Given the description of an element on the screen output the (x, y) to click on. 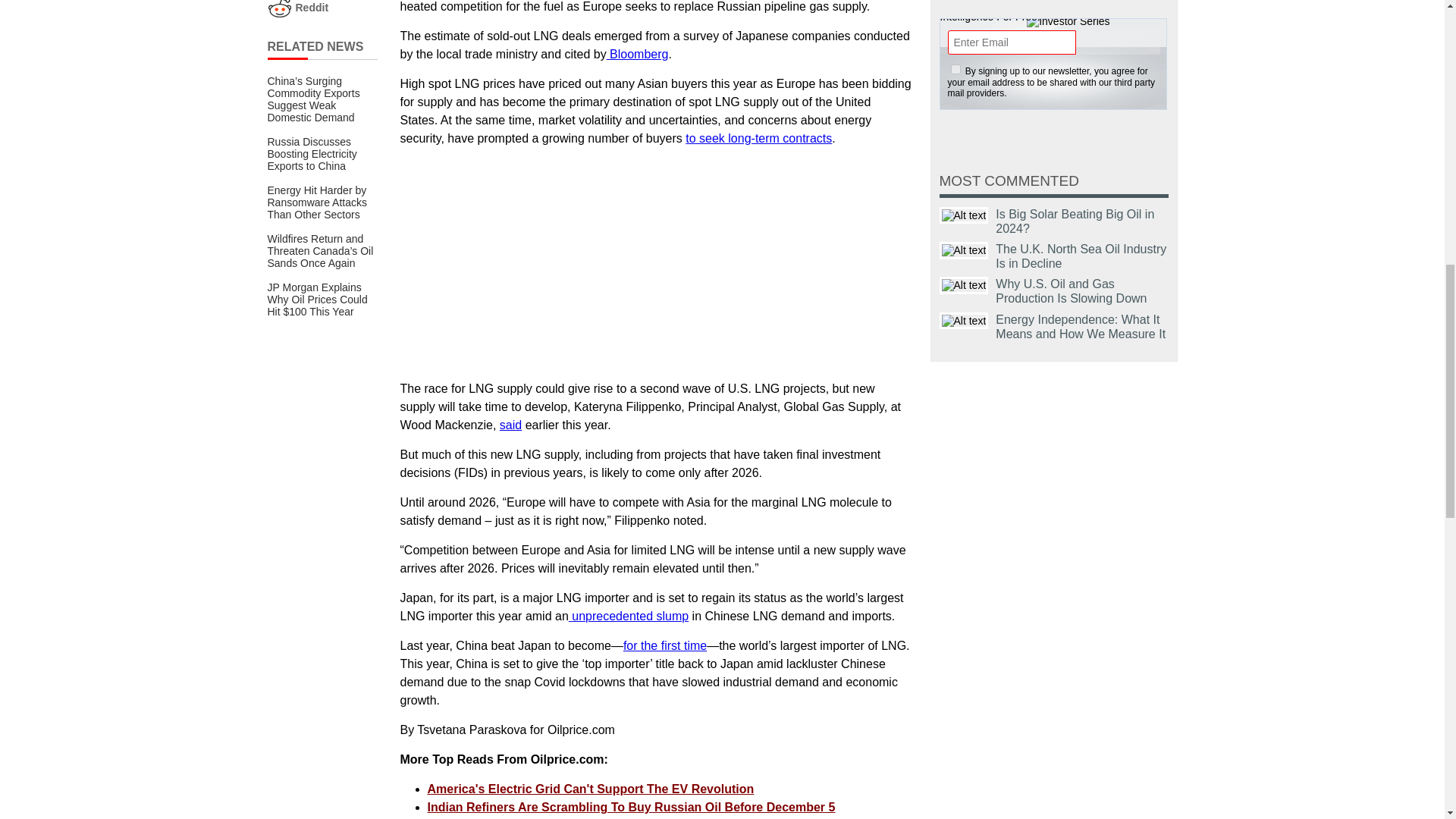
Title text (963, 250)
1 (955, 69)
Title text (963, 215)
Title text (963, 321)
Title text (963, 285)
